Given the description of an element on the screen output the (x, y) to click on. 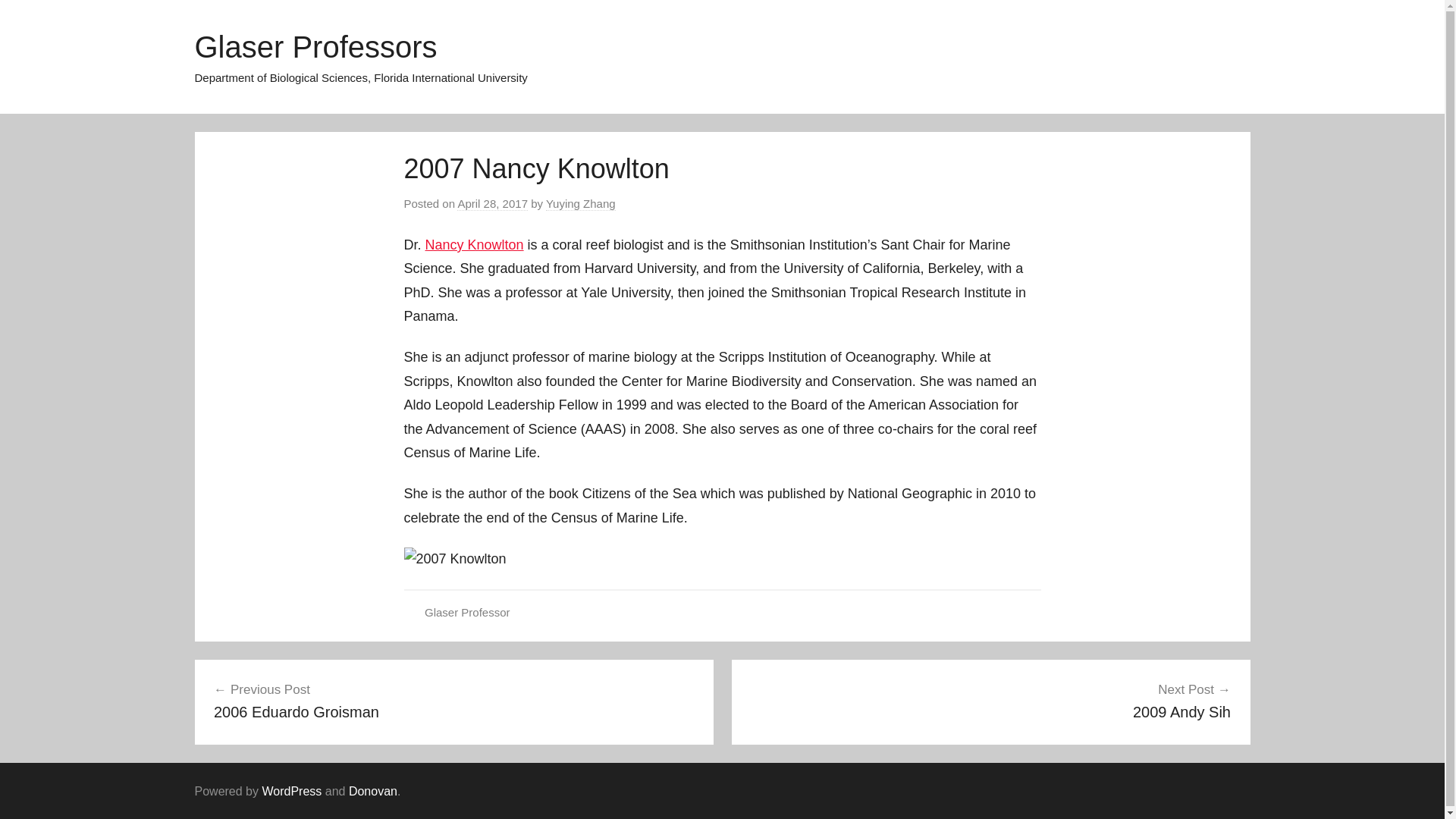
Glaser Professor (468, 612)
Yuying Zhang (580, 203)
April 28, 2017 (492, 203)
WordPress (291, 790)
Donovan (373, 790)
WordPress (291, 790)
Donovan WordPress Theme (454, 700)
View all posts by Yuying Zhang (373, 790)
